Given the description of an element on the screen output the (x, y) to click on. 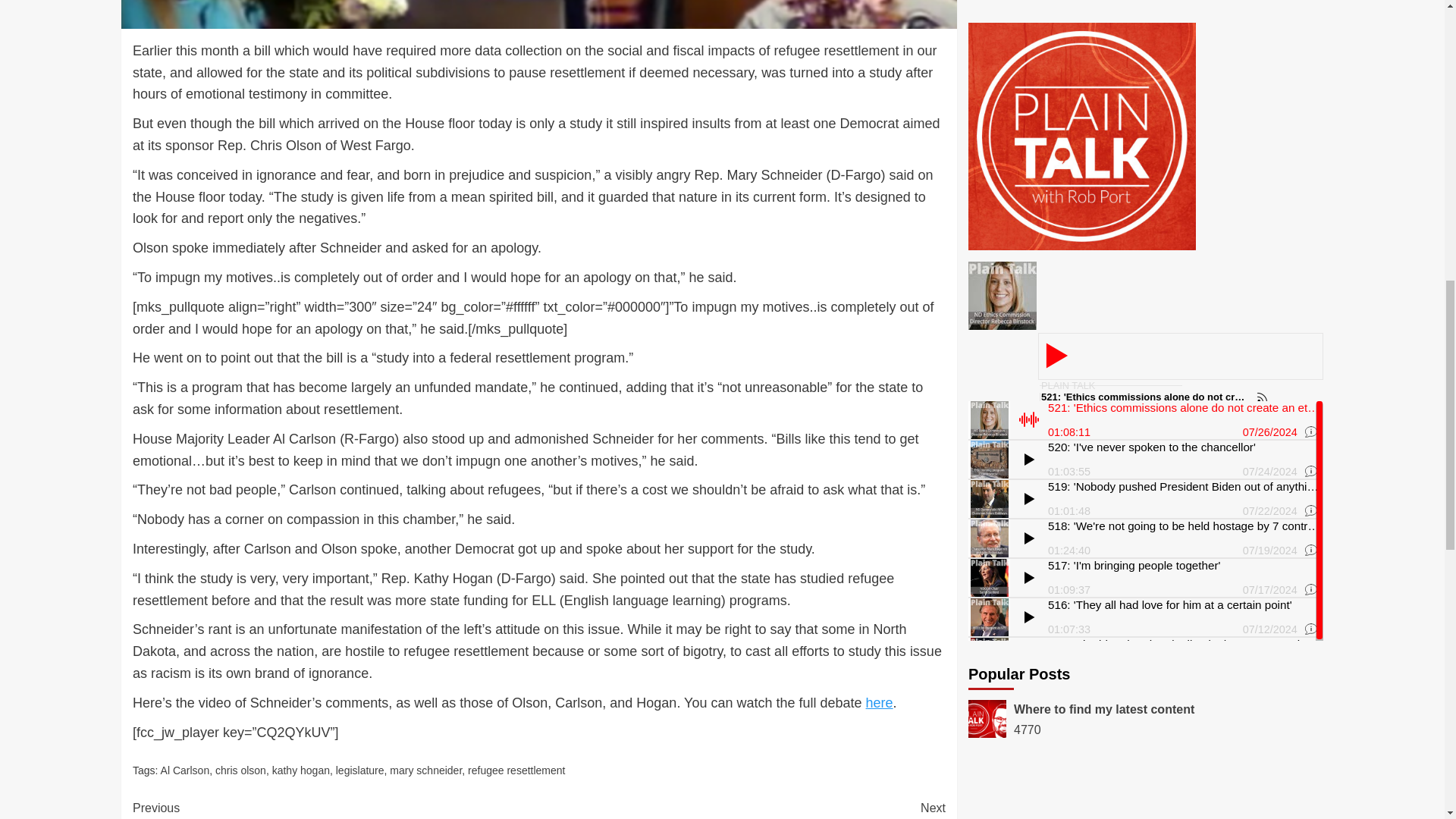
kathy hogan (301, 770)
chris olson (240, 770)
Al Carlson (184, 770)
here (741, 808)
refugee resettlement (879, 702)
mary schneider (515, 770)
legislature (425, 770)
